Given the description of an element on the screen output the (x, y) to click on. 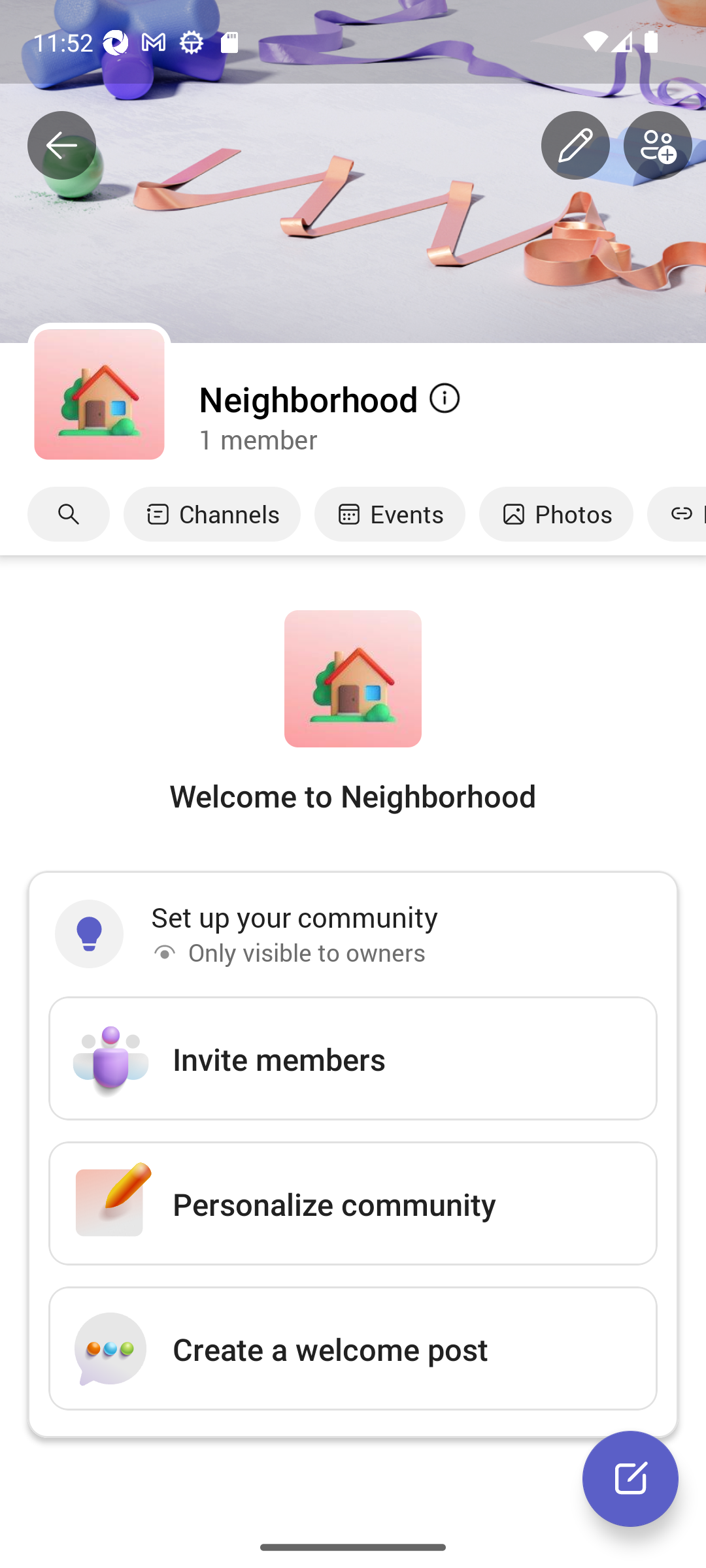
Back (61, 145)
Edit banner image (575, 145)
Add members (657, 145)
Neighborhood 1 member (450, 416)
Search tab, 1 of 6 (68, 513)
Channels tab, 2 of 6 Channels (211, 513)
Events tab, 3 of 6 Events (389, 513)
Photos tab, 4 of 6 Photos (556, 513)
Invite members (352, 1058)
Personalize community (352, 1203)
Create a welcome post (352, 1348)
New conversation (630, 1478)
